Given the description of an element on the screen output the (x, y) to click on. 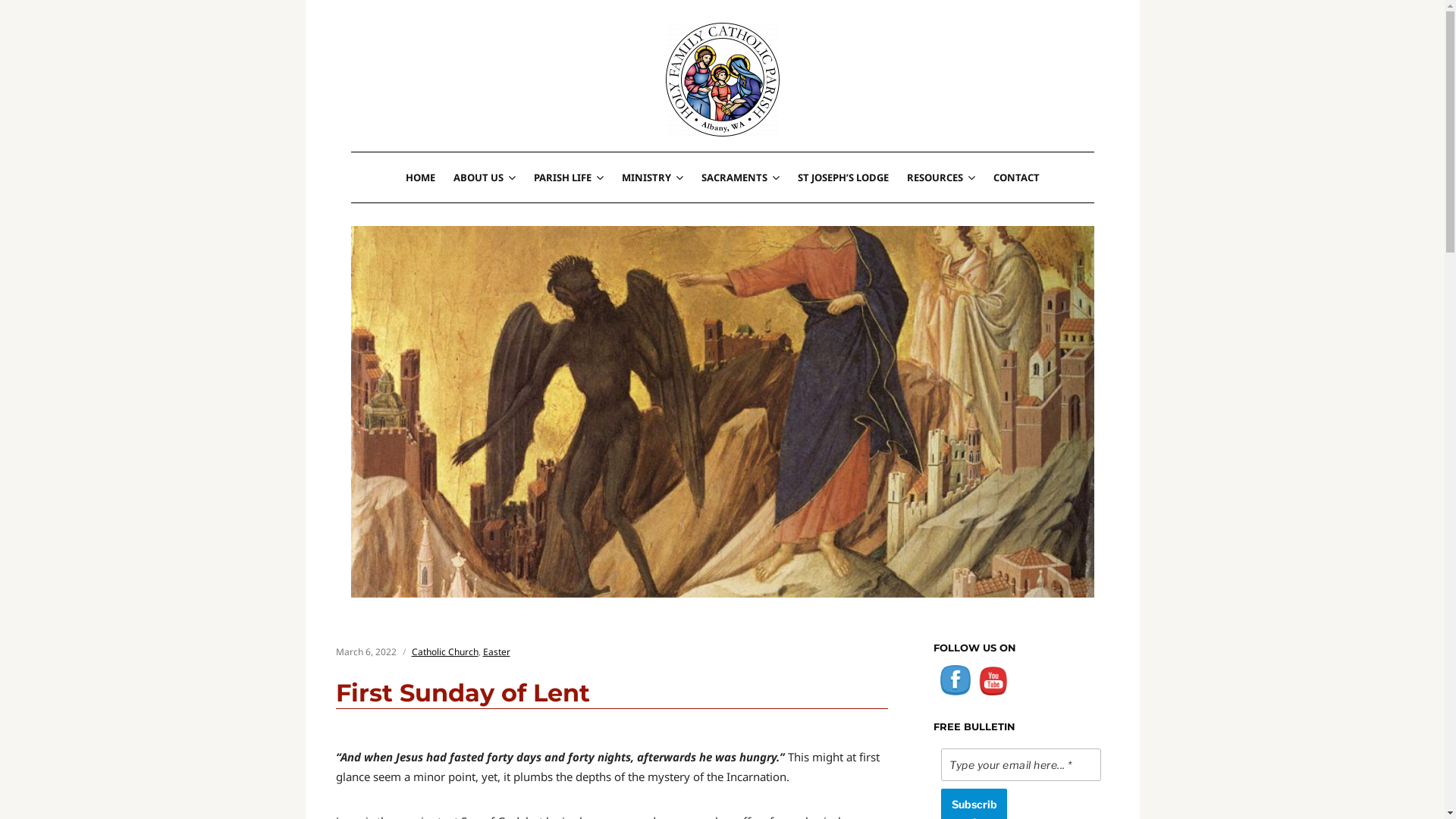
CONTACT Element type: text (1016, 177)
Easter Element type: text (495, 651)
RESOURCES Element type: text (940, 177)
SACRAMENTS Element type: text (739, 177)
PARISH LIFE Element type: text (568, 177)
Type your email here... Element type: hover (1021, 764)
Facebook Element type: hover (955, 680)
MINISTRY Element type: text (652, 177)
Catholic Church Element type: text (444, 651)
YouTube Element type: hover (993, 680)
ABOUT US Element type: text (484, 177)
HOME Element type: text (419, 177)
